Given the description of an element on the screen output the (x, y) to click on. 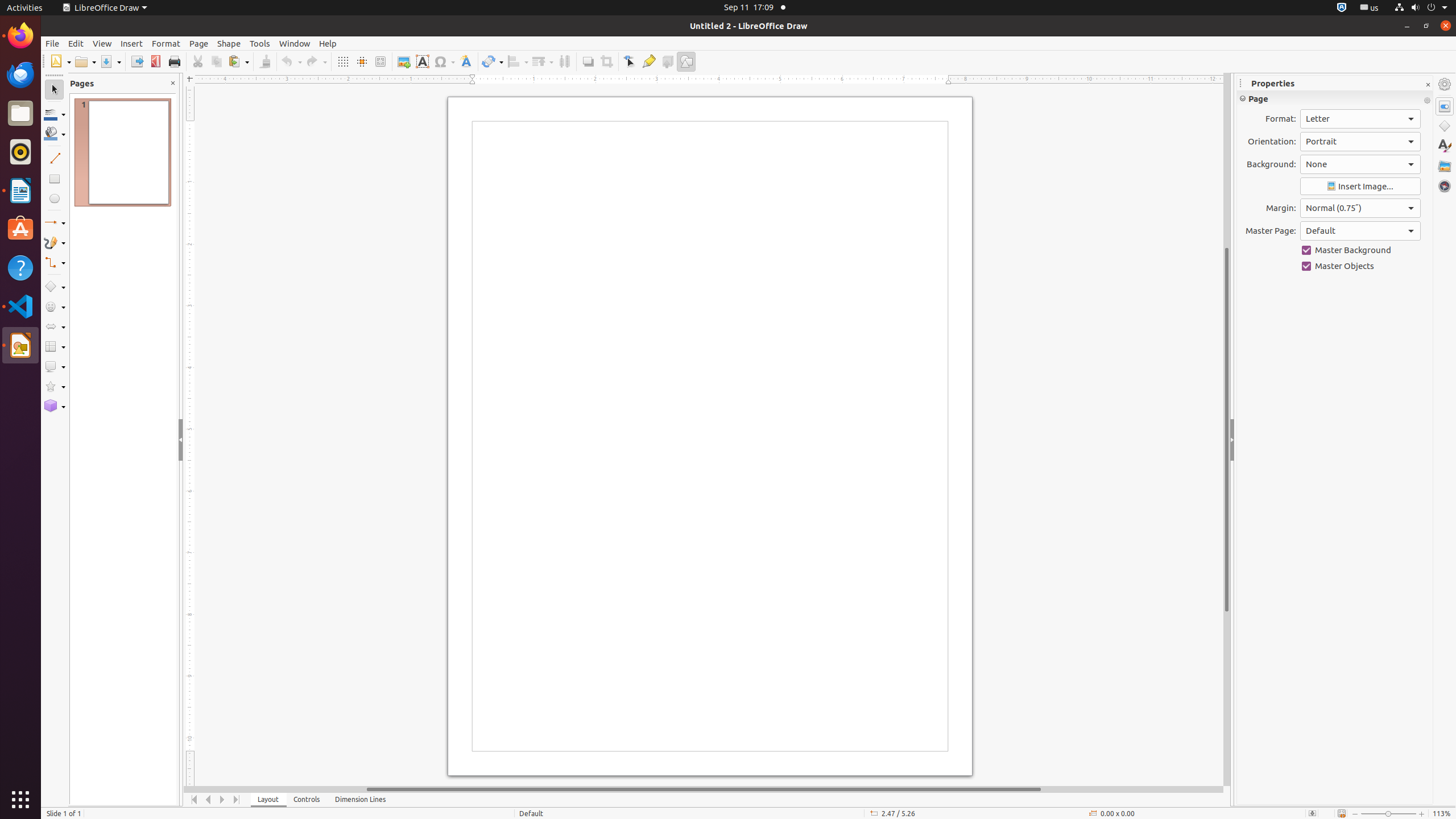
Text Box Element type: push-button (421, 61)
Glue Points Element type: push-button (648, 61)
Zoom & Pan Element type: push-button (379, 61)
Tools Element type: menu (259, 43)
Horizontal scroll bar Element type: scroll-bar (703, 789)
